Given the description of an element on the screen output the (x, y) to click on. 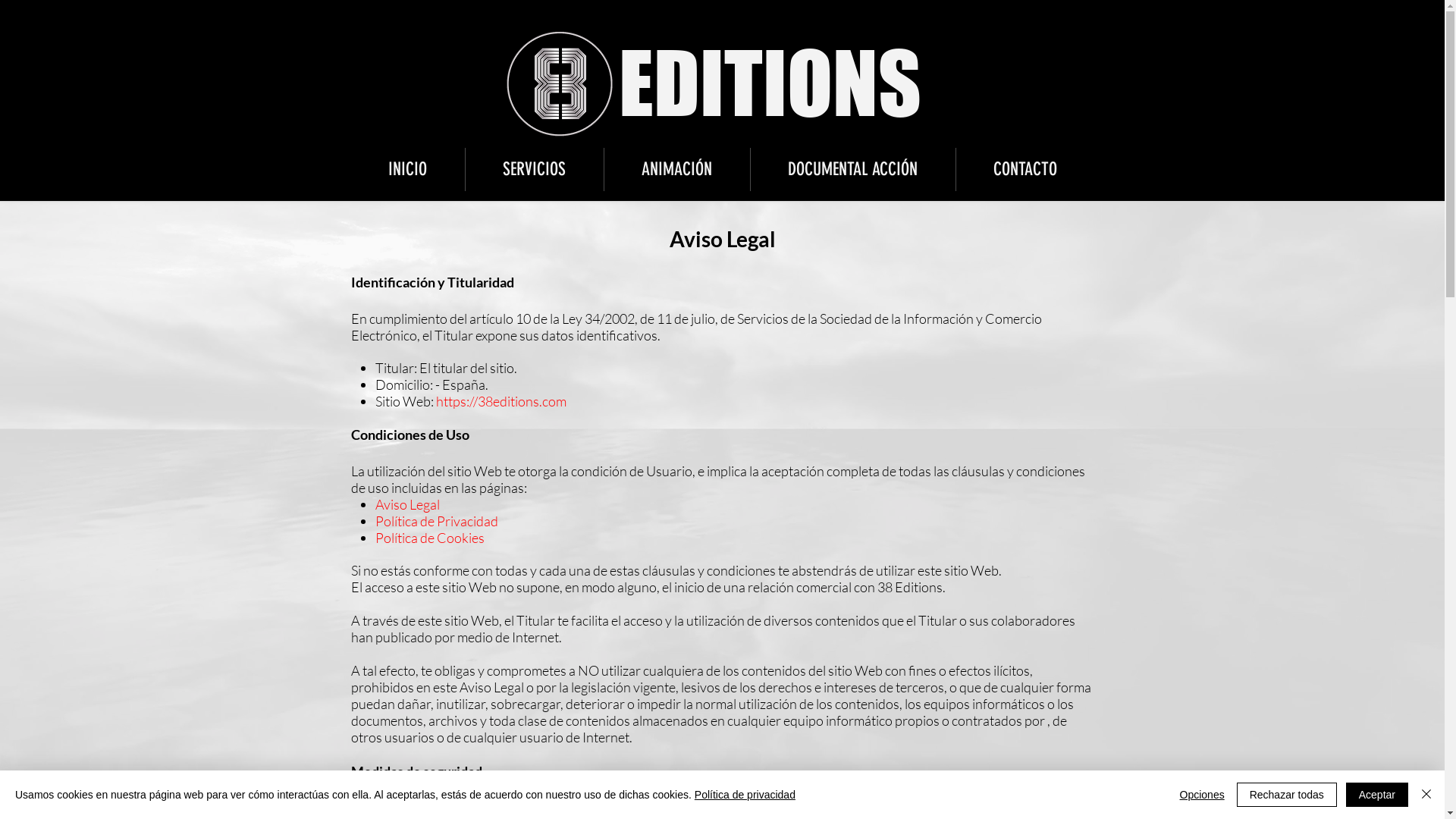
LOGO 8.png Element type: hover (560, 84)
CONTACTO Element type: text (1024, 169)
Aceptar Element type: text (1377, 794)
https://38editions.com Element type: text (501, 400)
SERVICIOS Element type: text (534, 169)
INICIO Element type: text (407, 169)
Rechazar todas Element type: text (1286, 794)
Aviso Legal Element type: text (407, 504)
